Given the description of an element on the screen output the (x, y) to click on. 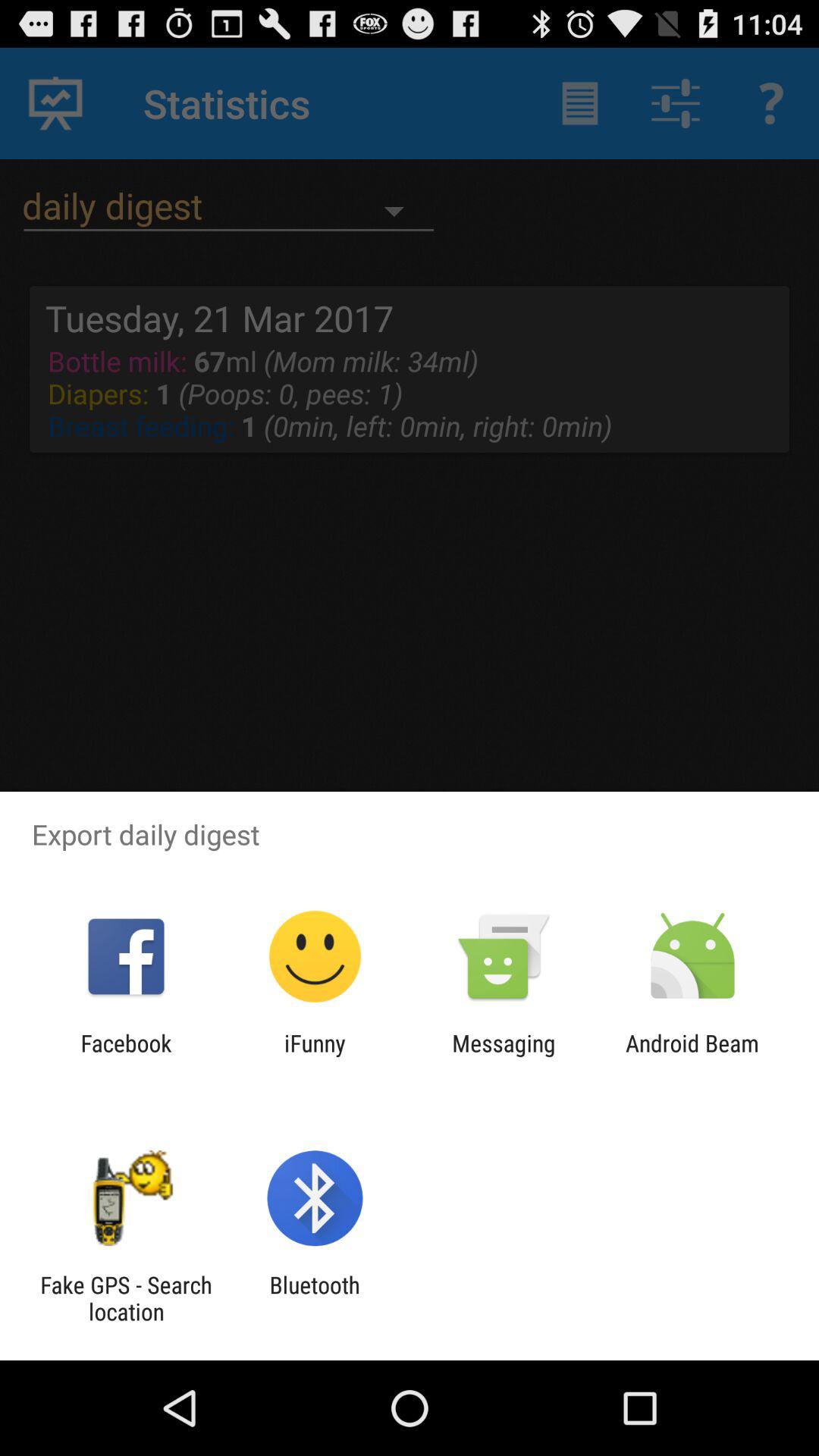
scroll to the android beam app (692, 1056)
